Given the description of an element on the screen output the (x, y) to click on. 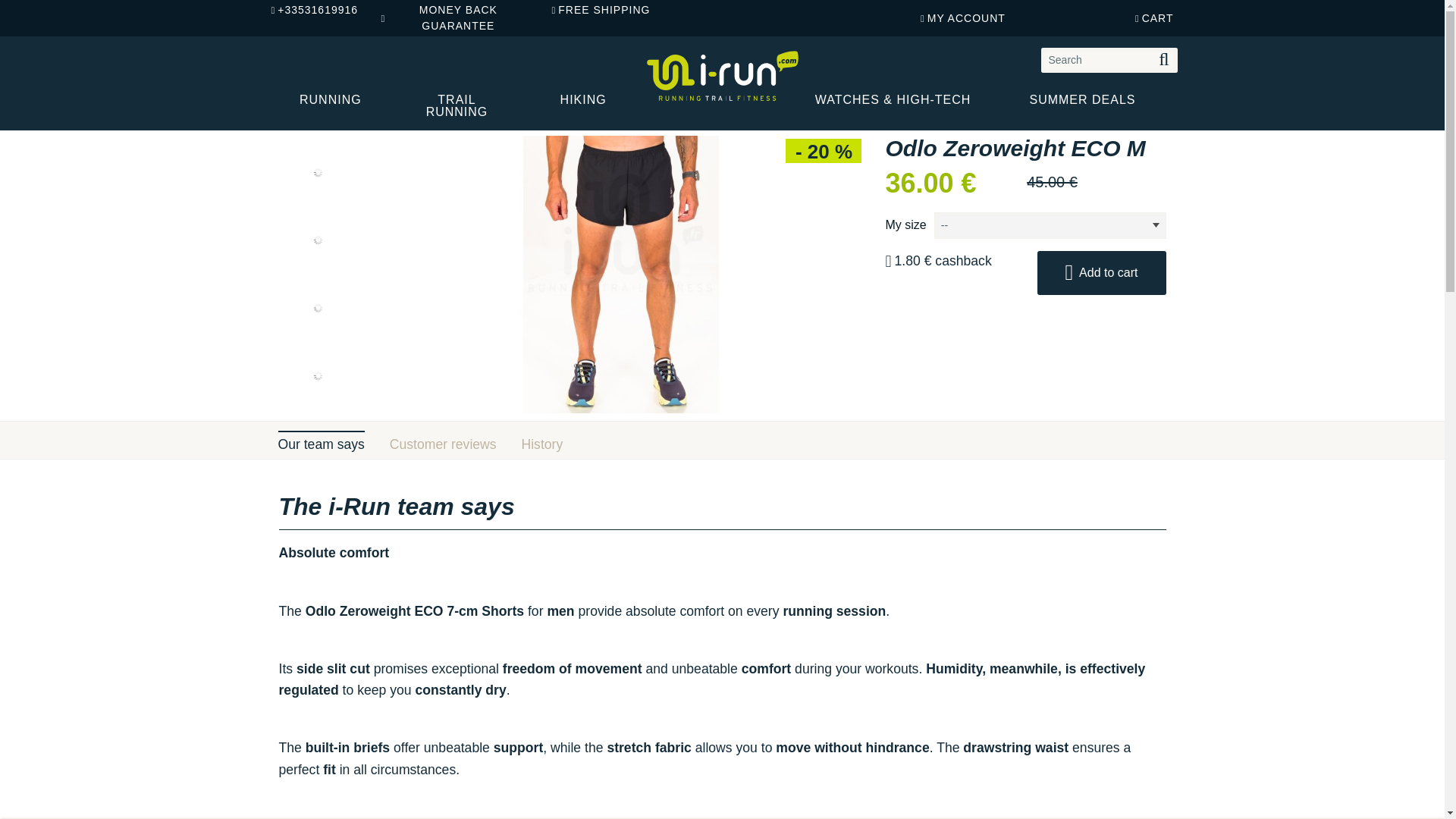
CART (1154, 18)
Odlo Zeroweight ECO M (612, 116)
Our team says Customer reviews History (721, 440)
Man (359, 116)
Shorts (466, 116)
FREE SHIPPING (614, 10)
MY ACCOUNT (963, 18)
Odlo (516, 116)
Home (302, 116)
Clothing (410, 116)
